Given the description of an element on the screen output the (x, y) to click on. 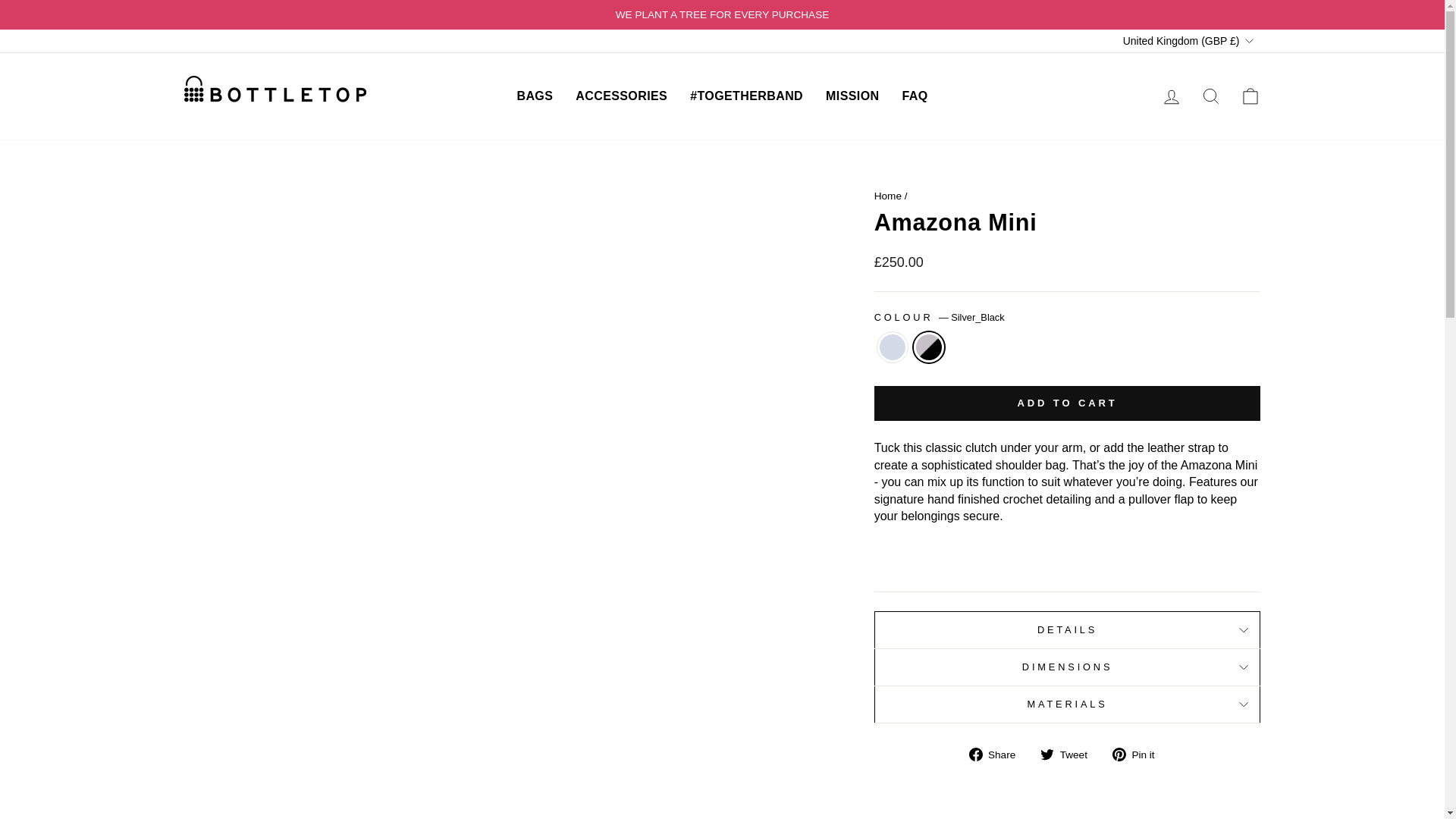
Back to the frontpage (888, 195)
Share on Facebook (998, 754)
Tweet on Twitter (1070, 754)
Pin on Pinterest (1139, 754)
